Given the description of an element on the screen output the (x, y) to click on. 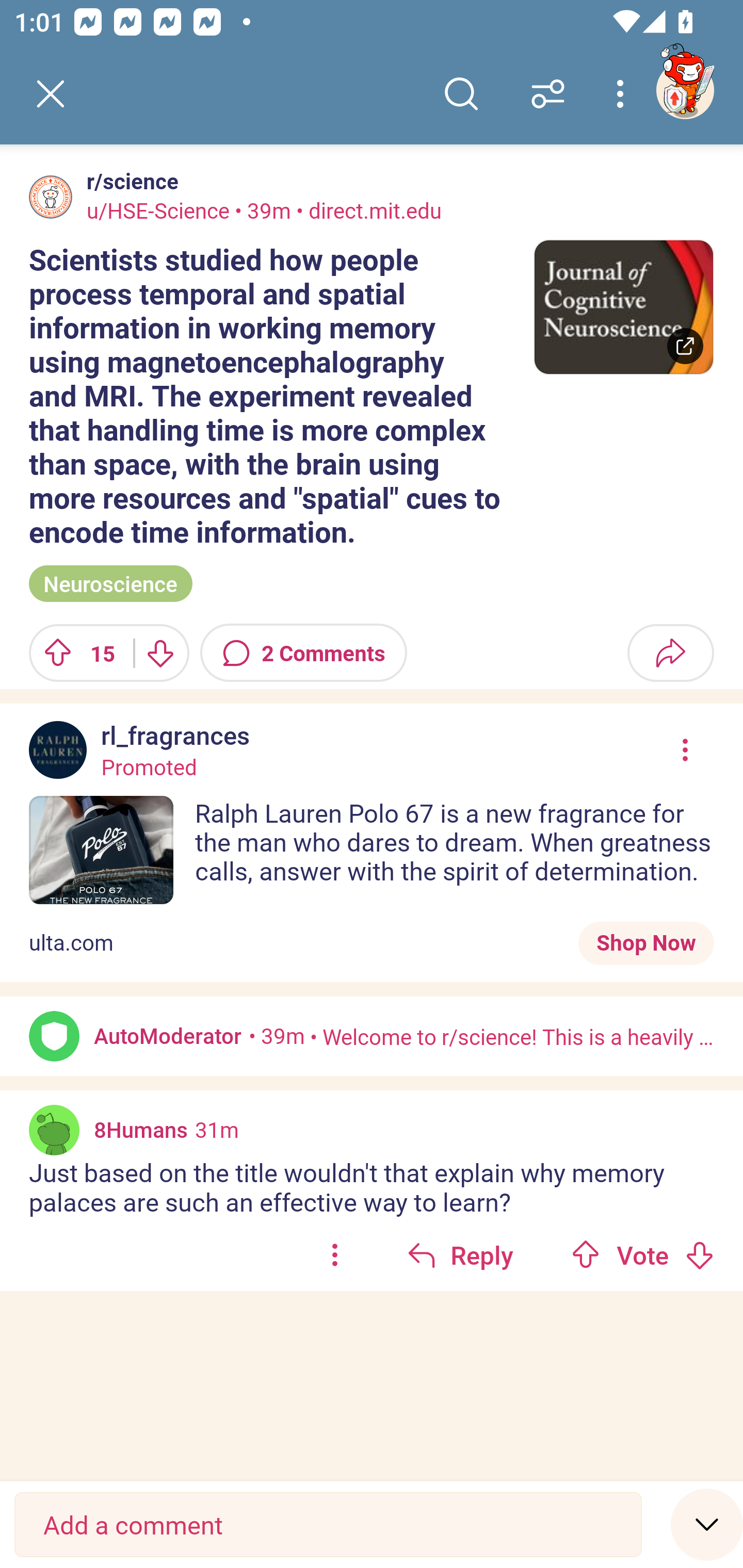
Back (50, 93)
TestAppium002 account (685, 90)
Search comments (460, 93)
Sort comments (547, 93)
More options (623, 93)
r/science (128, 181)
Avatar (50, 196)
u/HSE-Science (157, 210)
 • direct.mit.edu (366, 210)
Thumbnail image (623, 306)
Neuroscience (110, 584)
Upvote 15 (73, 652)
Downvote (158, 652)
2 Comments (303, 652)
Share (670, 652)
Avatar (53, 1036)
• 39m (276, 1035)
Avatar (53, 1130)
31m (216, 1129)
options (334, 1254)
Reply (460, 1254)
Upvote Vote Downvote (642, 1254)
Upvote (585, 1255)
Downvote (699, 1255)
Speed read (706, 1524)
Add a comment (327, 1524)
